Given the description of an element on the screen output the (x, y) to click on. 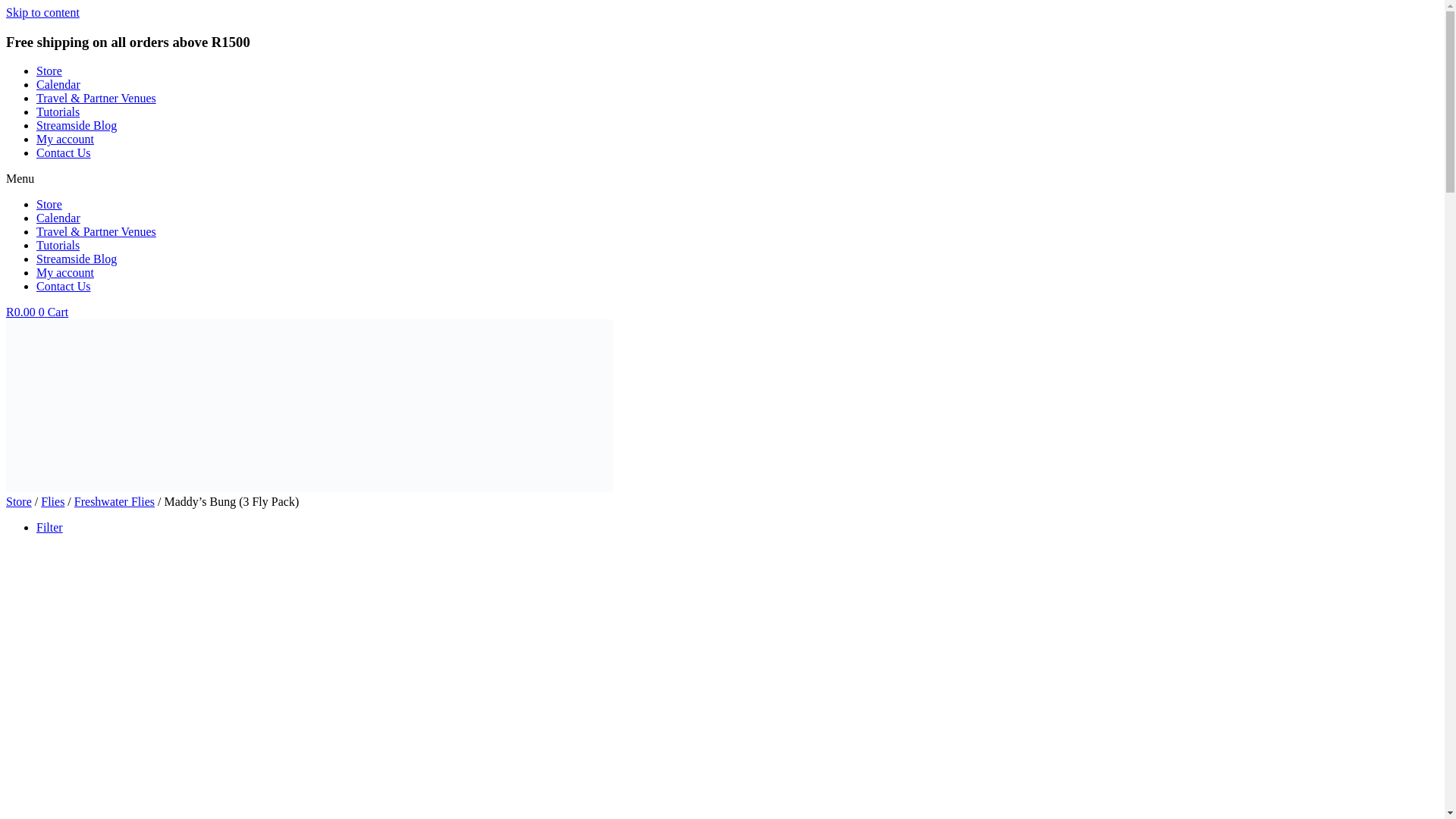
Streamside Blog (76, 124)
Calendar (58, 83)
Flies (52, 501)
Store (49, 70)
Tutorials (58, 245)
Contact Us (63, 286)
Calendar (58, 217)
Contact Us (63, 152)
Store (18, 501)
Streamside Blog (76, 258)
